Given the description of an element on the screen output the (x, y) to click on. 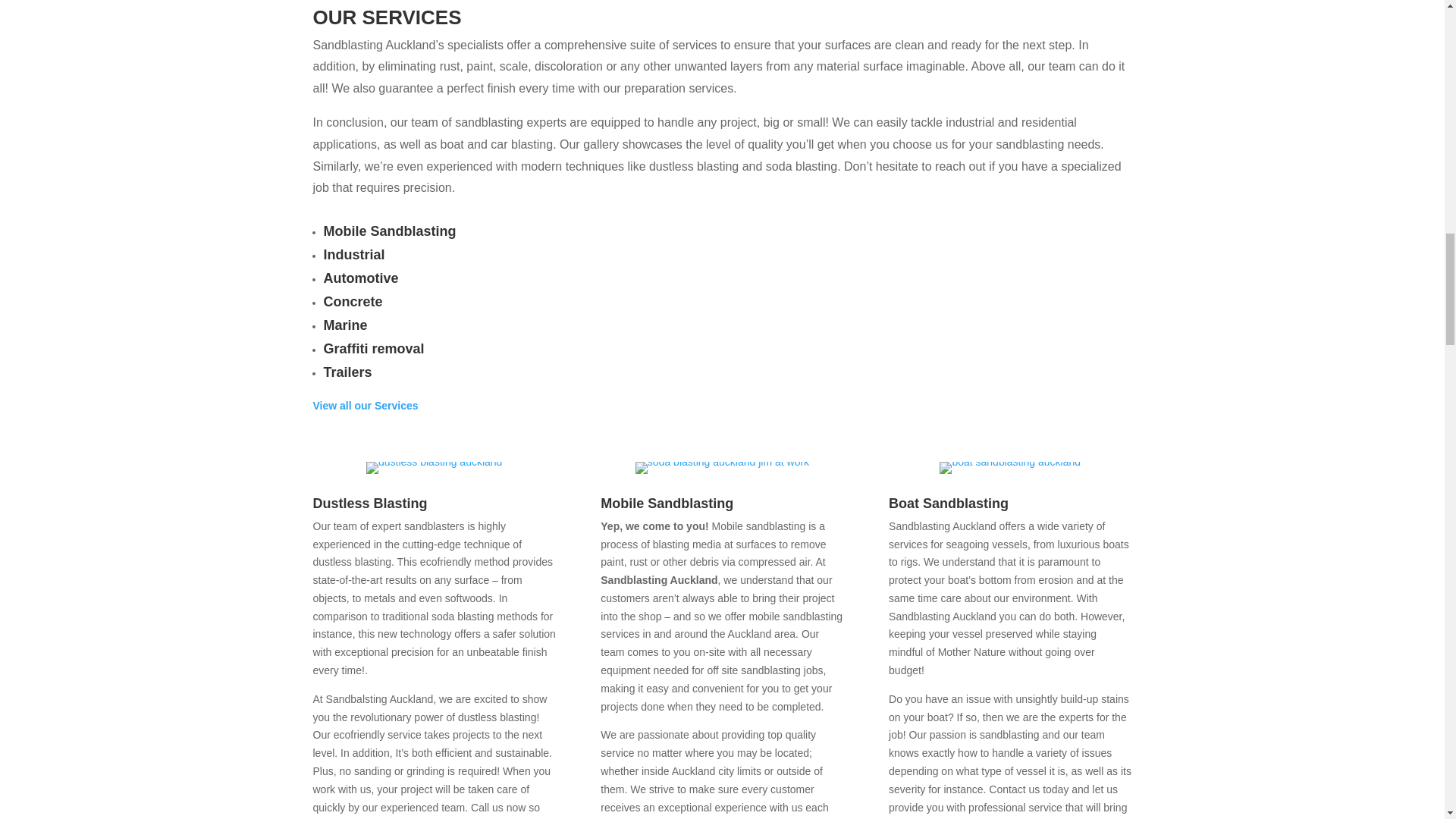
View all our Services (365, 405)
Dustless Blasting (369, 503)
Mobile Sandblasting (666, 503)
Boat Sandblasting (948, 503)
